Given the description of an element on the screen output the (x, y) to click on. 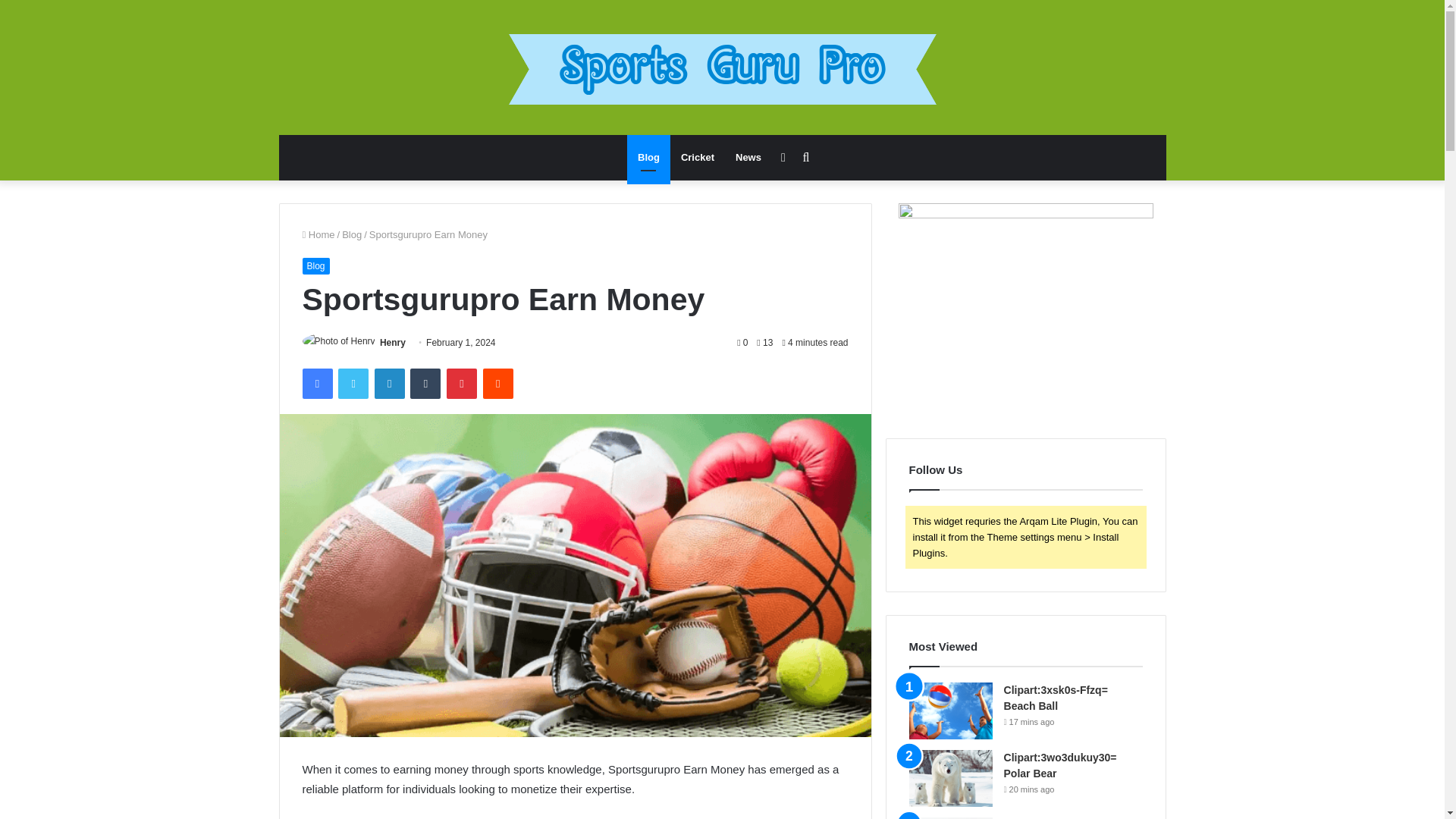
Blog (351, 234)
Reddit (498, 383)
News (748, 157)
LinkedIn (389, 383)
Reddit (498, 383)
Facebook (316, 383)
Blog (315, 265)
Facebook (316, 383)
Tumblr (425, 383)
Cricket (697, 157)
Tumblr (425, 383)
Henry (393, 342)
Blog (648, 157)
Home (317, 234)
Twitter (352, 383)
